Given the description of an element on the screen output the (x, y) to click on. 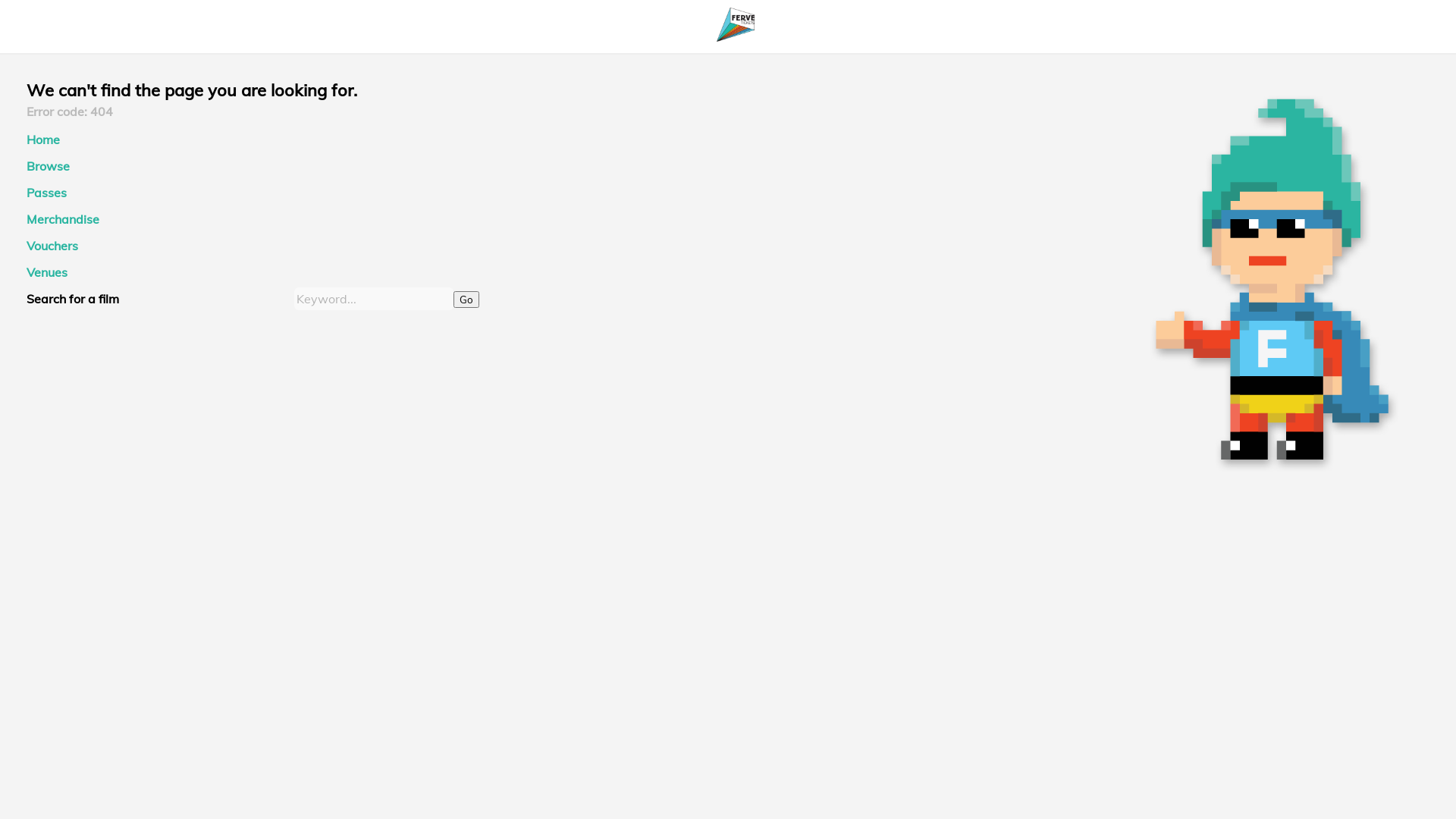
Vouchers Element type: text (52, 245)
Venues Element type: text (46, 271)
Home Element type: text (42, 139)
Merchandise Element type: text (62, 218)
Browse Element type: text (47, 165)
Passes Element type: text (46, 192)
Go Element type: text (466, 299)
